Given the description of an element on the screen output the (x, y) to click on. 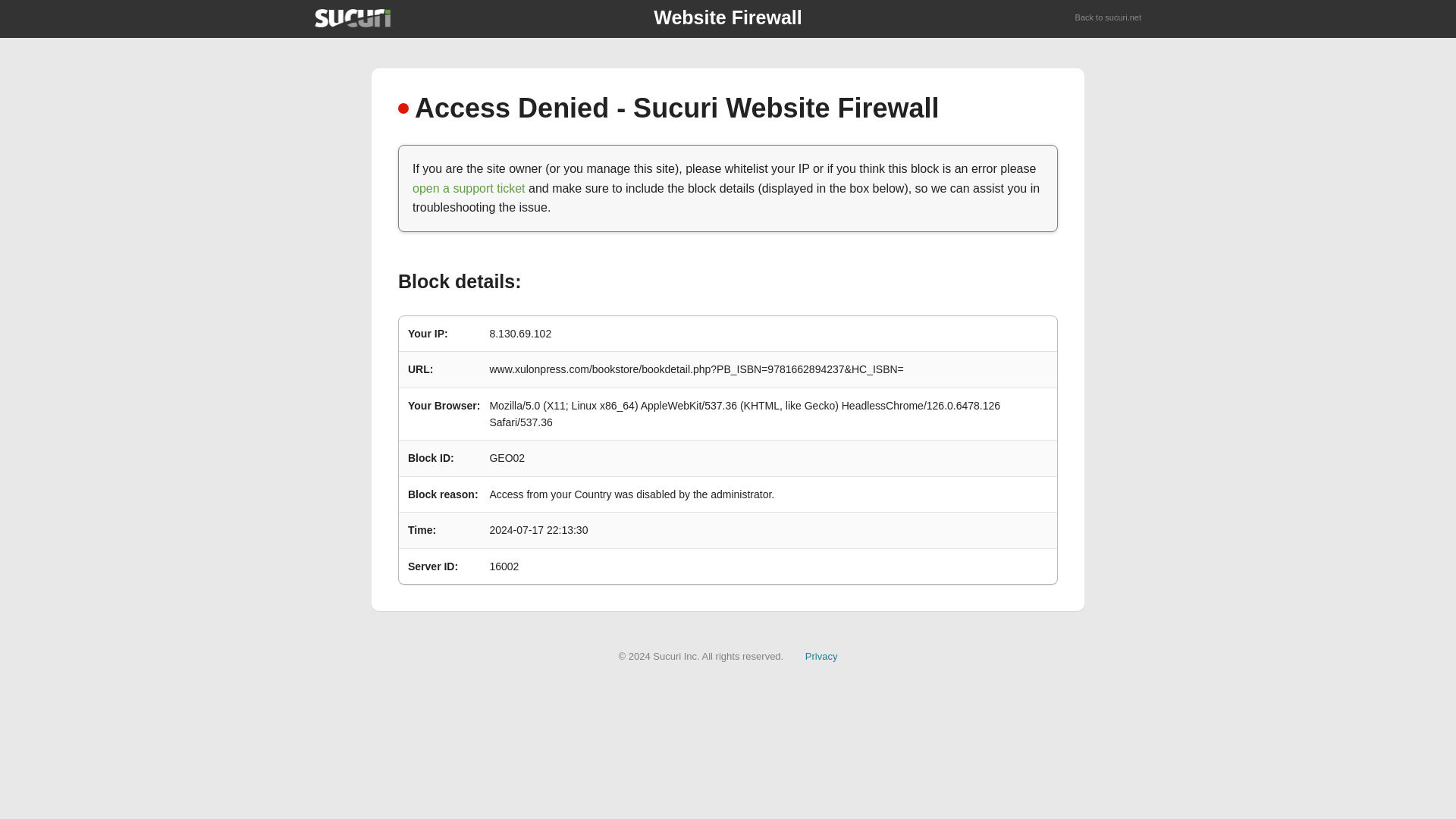
Back to sucuri.net (1108, 18)
Privacy (821, 655)
open a support ticket (468, 187)
